Given the description of an element on the screen output the (x, y) to click on. 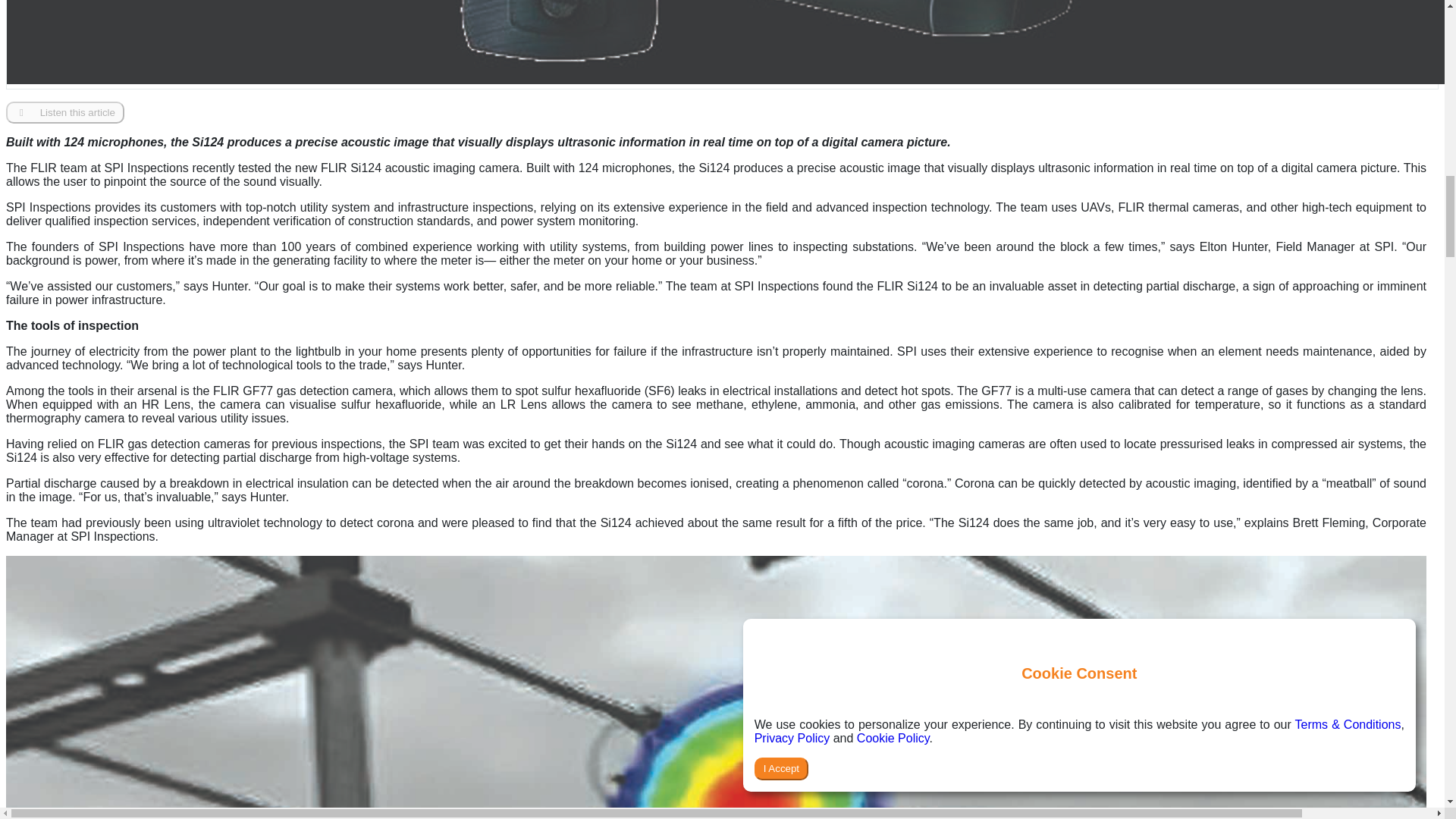
Listen this article (64, 112)
